Given the description of an element on the screen output the (x, y) to click on. 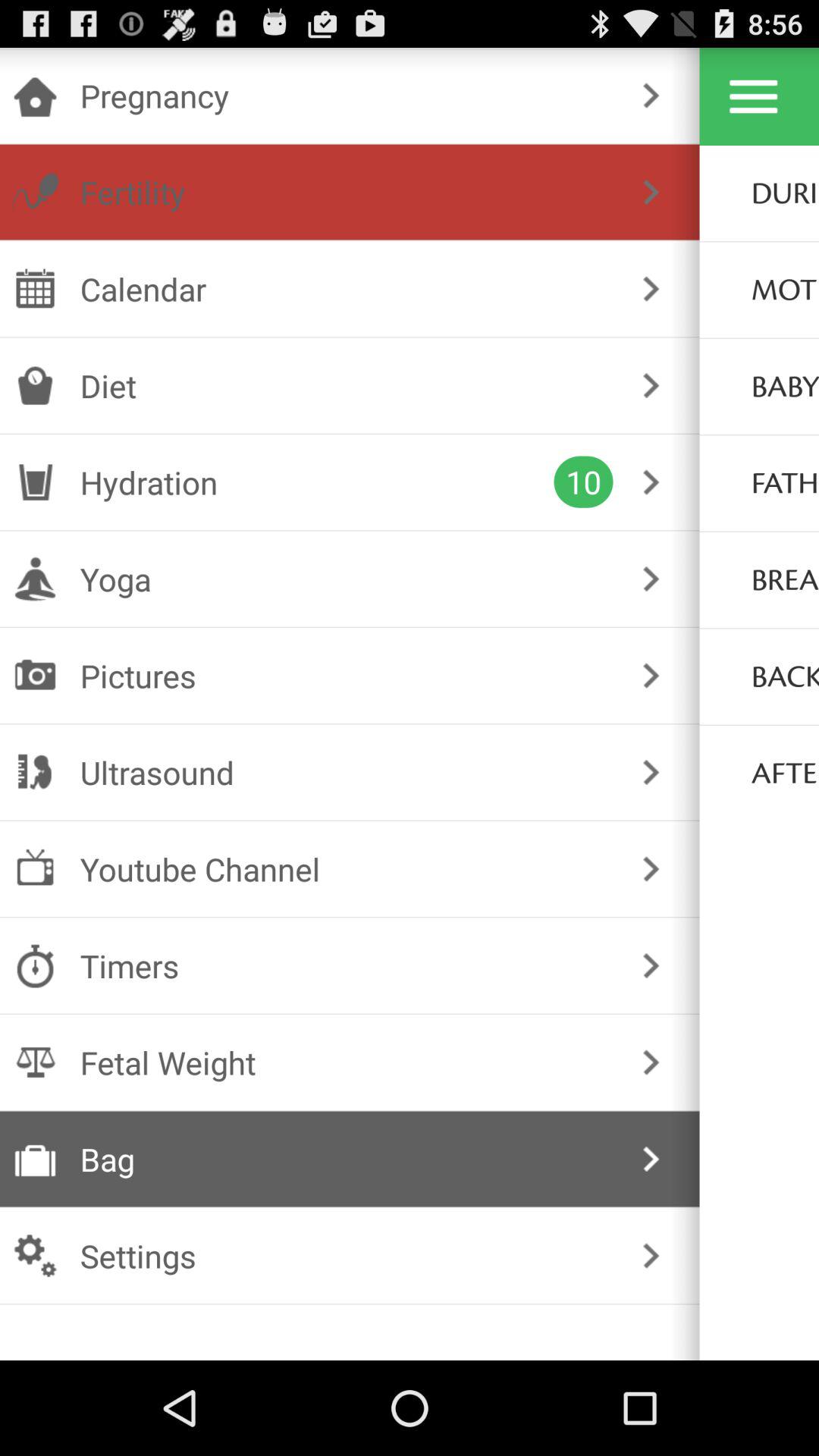
launch the youtube channel (346, 868)
